Given the description of an element on the screen output the (x, y) to click on. 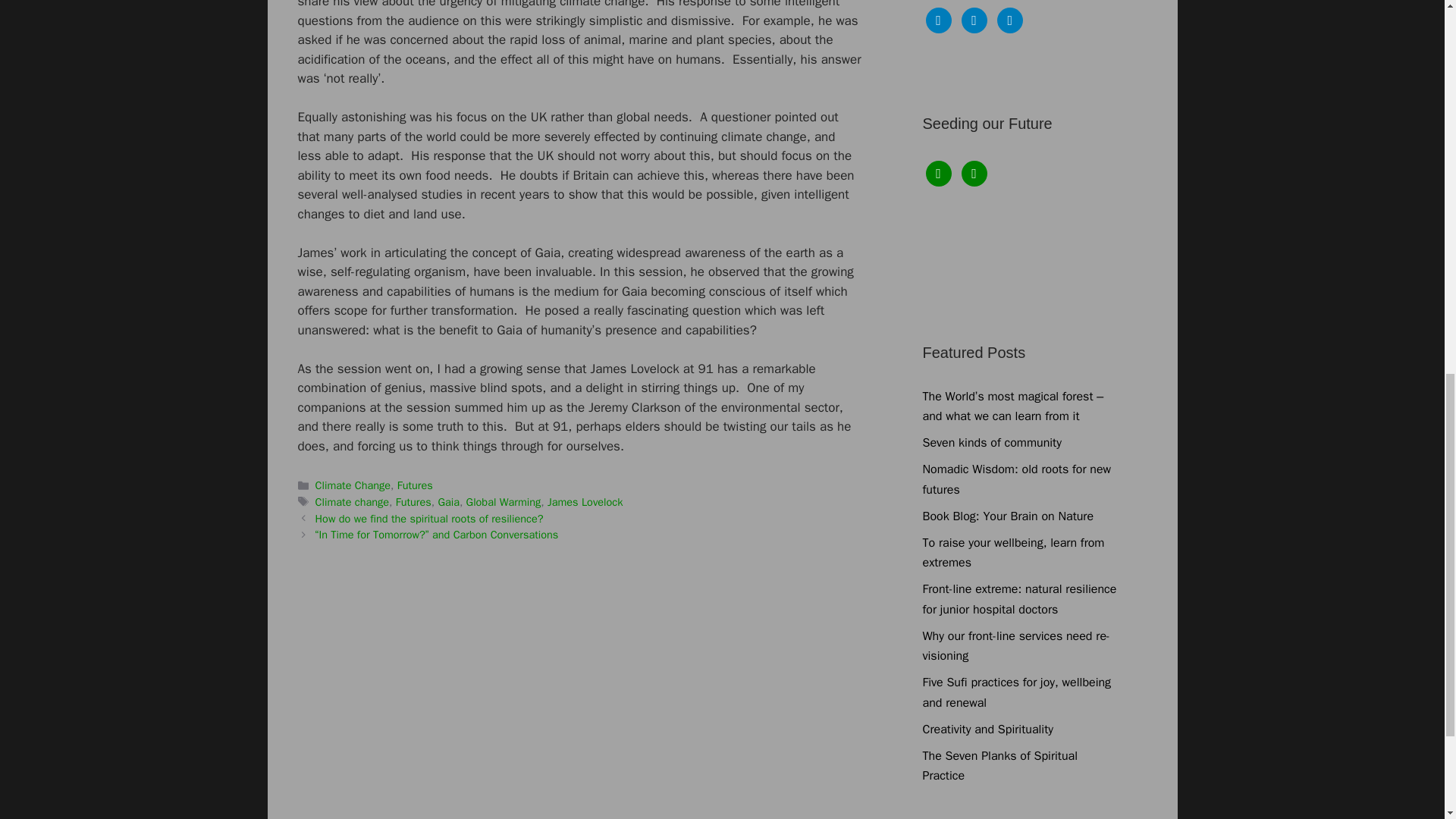
youtube (1010, 19)
Gaia (449, 501)
Futures (414, 485)
James Lovelock (585, 501)
How do we find the spiritual roots of resilience? (429, 518)
Twitter (973, 19)
Facebook (937, 172)
Default Label (1010, 19)
Seven kinds of community (991, 442)
Nomadic Wisdom: old roots for new futures (1015, 479)
